Given the description of an element on the screen output the (x, y) to click on. 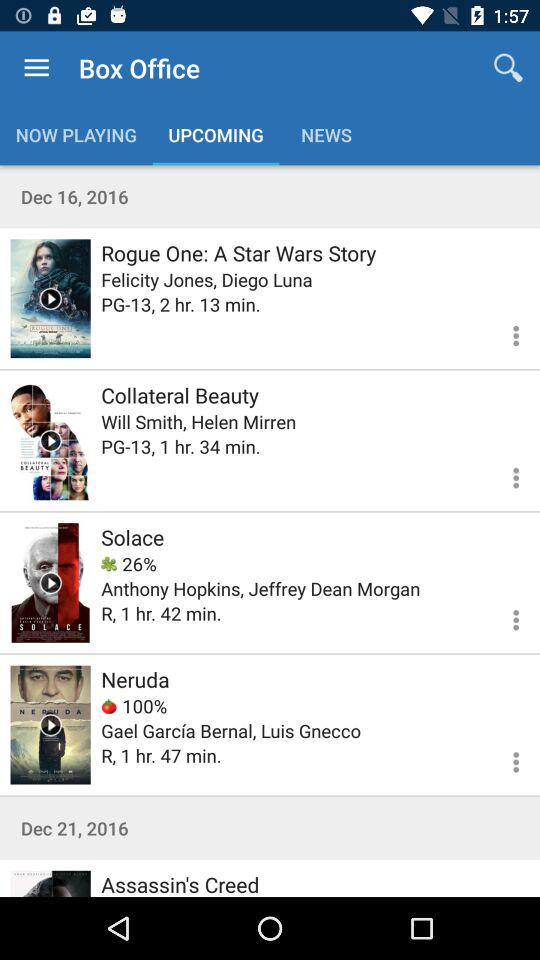
view more details (503, 475)
